Given the description of an element on the screen output the (x, y) to click on. 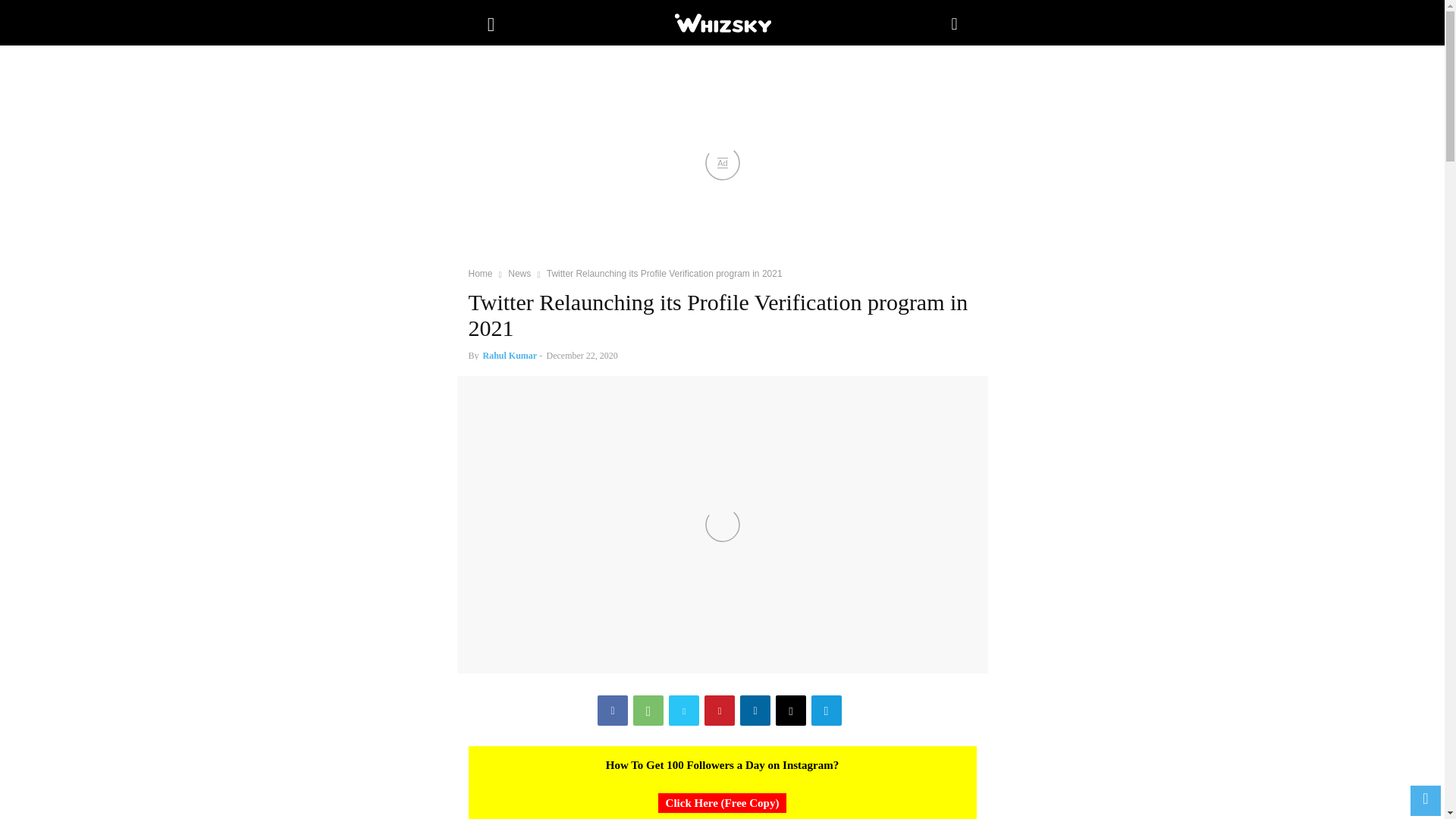
Telegram (825, 710)
Rahul Kumar (510, 355)
Logo (722, 22)
Home (480, 273)
Twitter (683, 710)
Email (791, 710)
Logo (721, 22)
News (519, 273)
Facebook (611, 710)
View all posts in News (519, 273)
Pinterest (719, 710)
WhatsApp (648, 710)
Linkedin (754, 710)
